Given the description of an element on the screen output the (x, y) to click on. 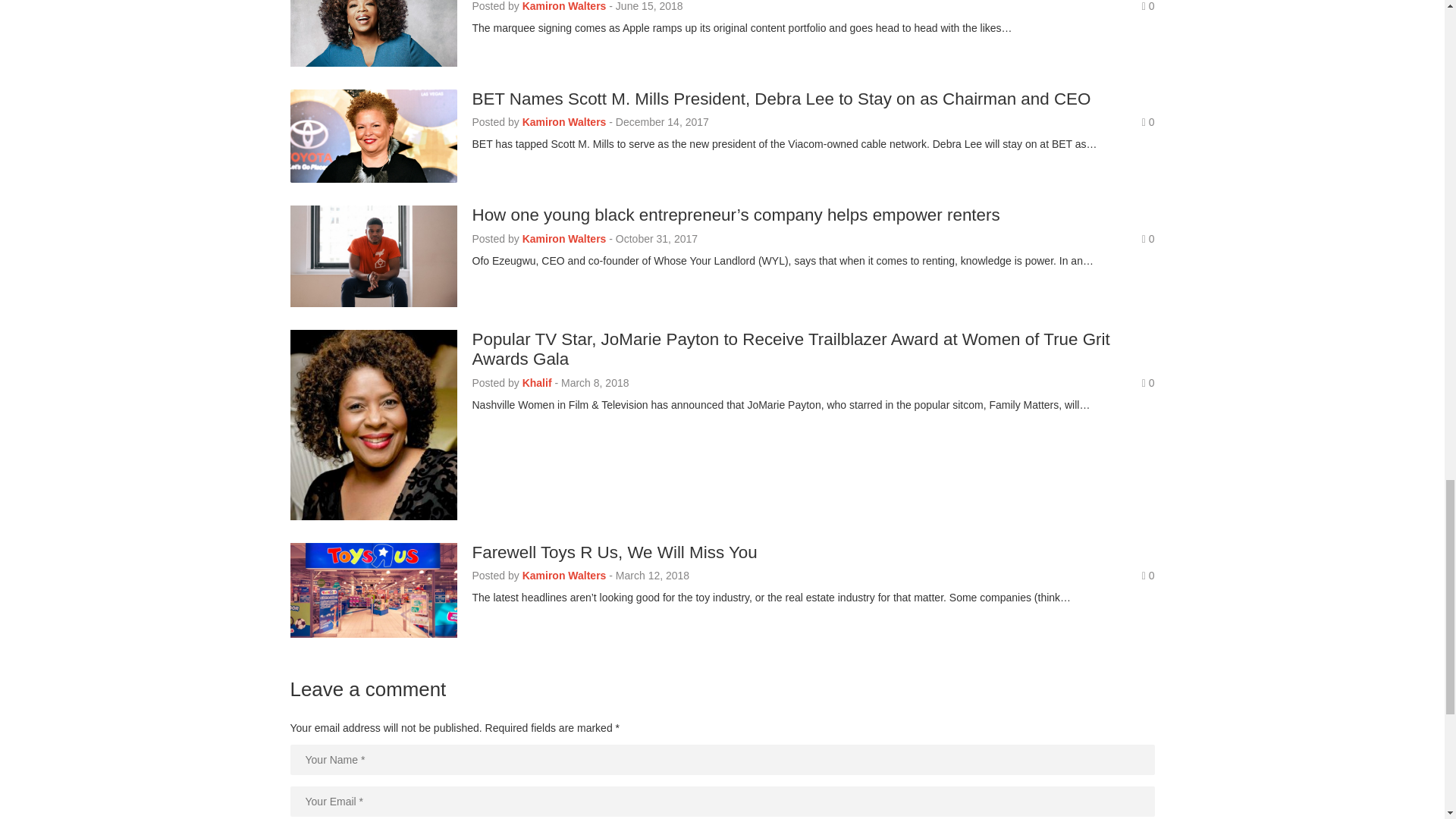
Posts by Kamiron Walters (564, 121)
Posts by Khalif (536, 382)
Posts by Kamiron Walters (564, 238)
Posts by Kamiron Walters (564, 575)
Kamiron Walters (564, 6)
Posts by Kamiron Walters (564, 6)
